Given the description of an element on the screen output the (x, y) to click on. 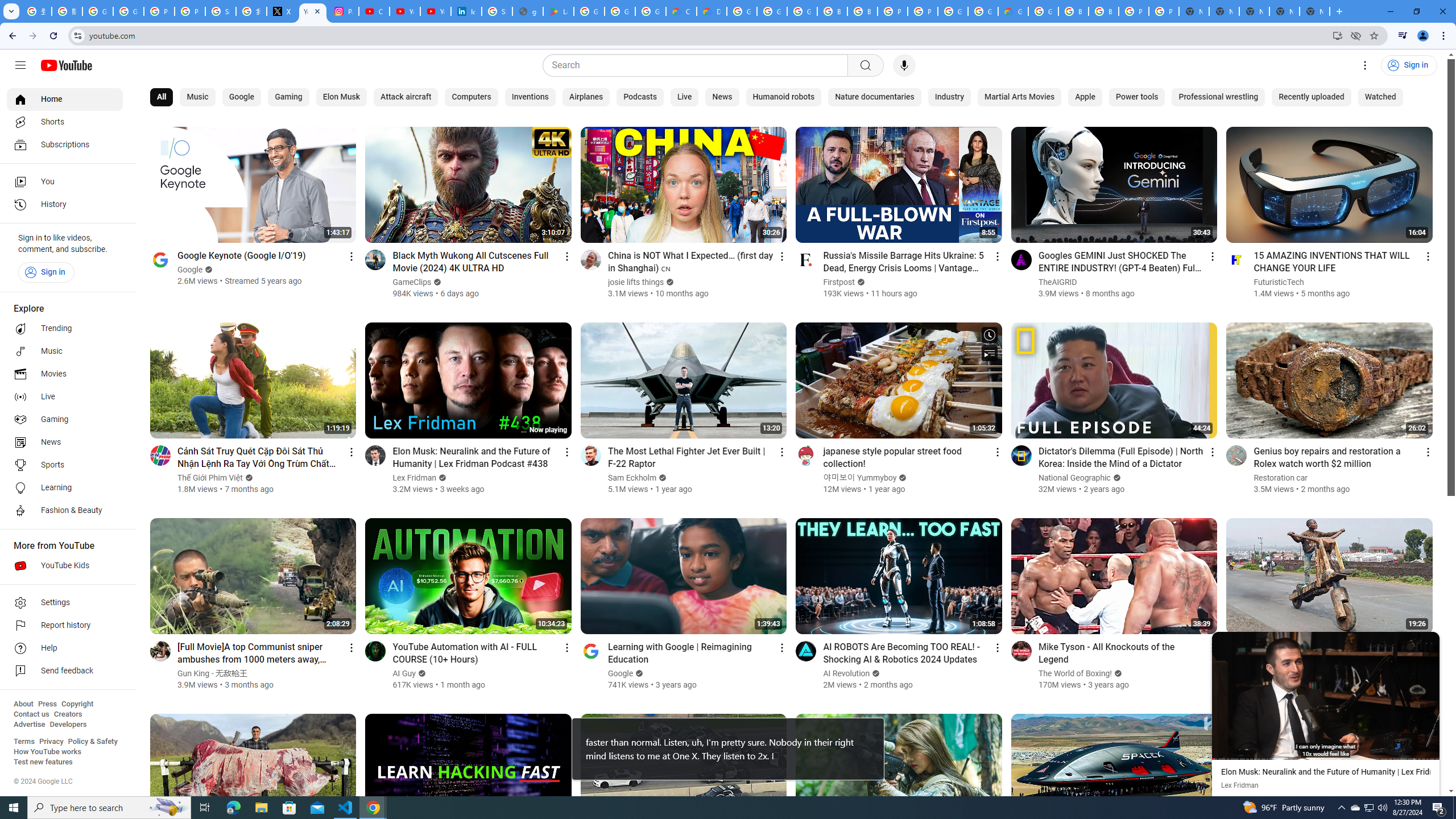
Google Cloud Estimate Summary (1012, 11)
Guide (20, 65)
Test new features (42, 761)
Identity verification via Persona | LinkedIn Help (465, 11)
Lex Fridman (414, 477)
Martial Arts Movies (1018, 97)
Send feedback (64, 671)
Shorts (64, 121)
Expand (i) (1222, 643)
Help (64, 648)
Copyright (77, 703)
